Given the description of an element on the screen output the (x, y) to click on. 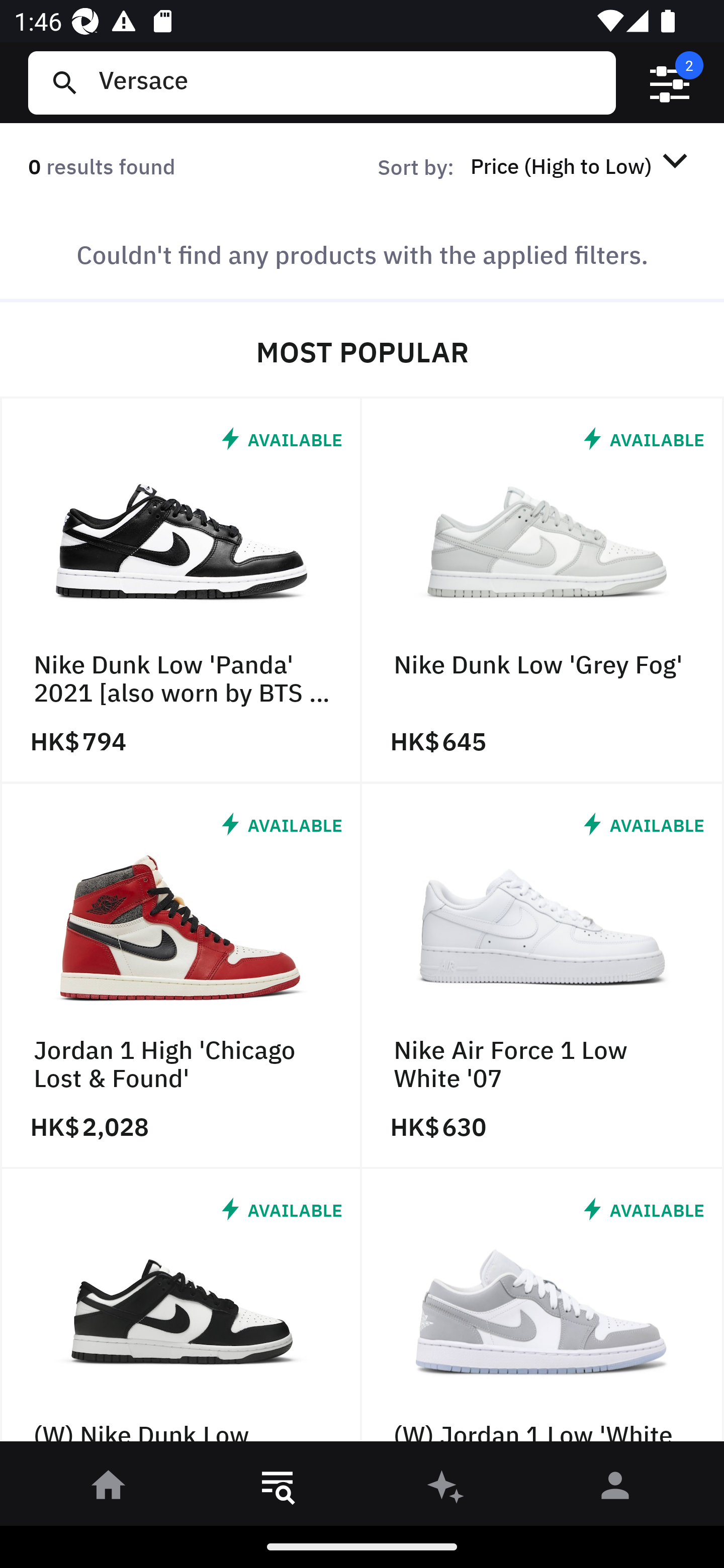
Versace (349, 82)
 (669, 82)
Price (High to Low)  (582, 165)
 AVAILABLE Nike Dunk Low 'Grey Fog' HK$ 645 (543, 591)
 AVAILABLE Nike Air Force 1 Low White '07 HK$ 630 (543, 976)
 AVAILABLE (W) Nike Dunk Low 'Panda' 2021 (181, 1309)
 AVAILABLE (W) Jordan 1 Low 'White Wolf Grey' (543, 1309)
󰋜 (108, 1488)
󱎸 (277, 1488)
󰫢 (446, 1488)
󰀄 (615, 1488)
